Given the description of an element on the screen output the (x, y) to click on. 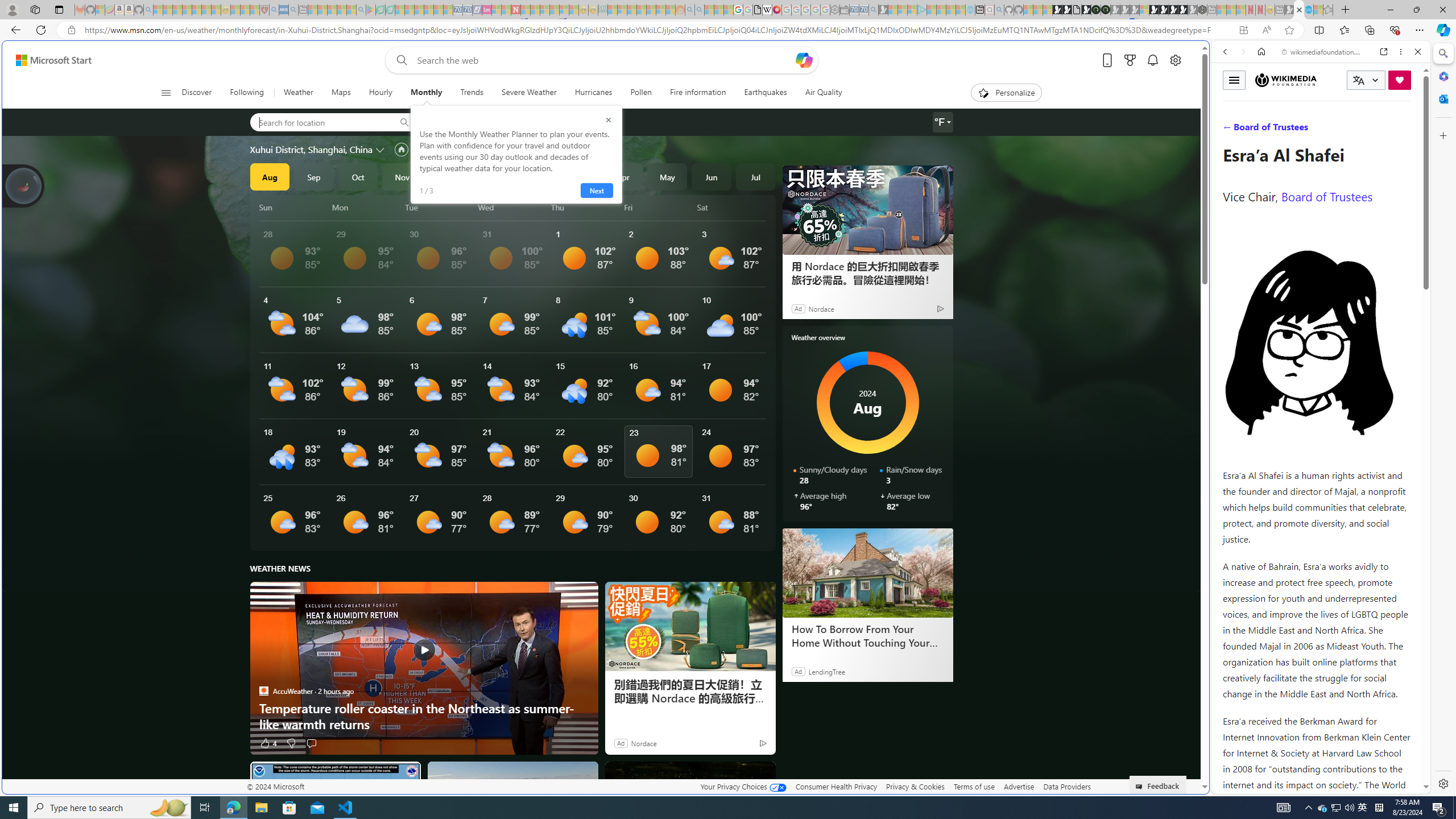
Weather (297, 92)
Weather settings (942, 122)
Wikimedia Foundation (1285, 79)
Robert H. Shmerling, MD - Harvard Health - Sleeping (263, 9)
Services - Maintenance | Sky Blue Bikes - Sky Blue Bikes (1307, 9)
google_privacy_policy_zh-CN.pdf (757, 9)
